Given the description of an element on the screen output the (x, y) to click on. 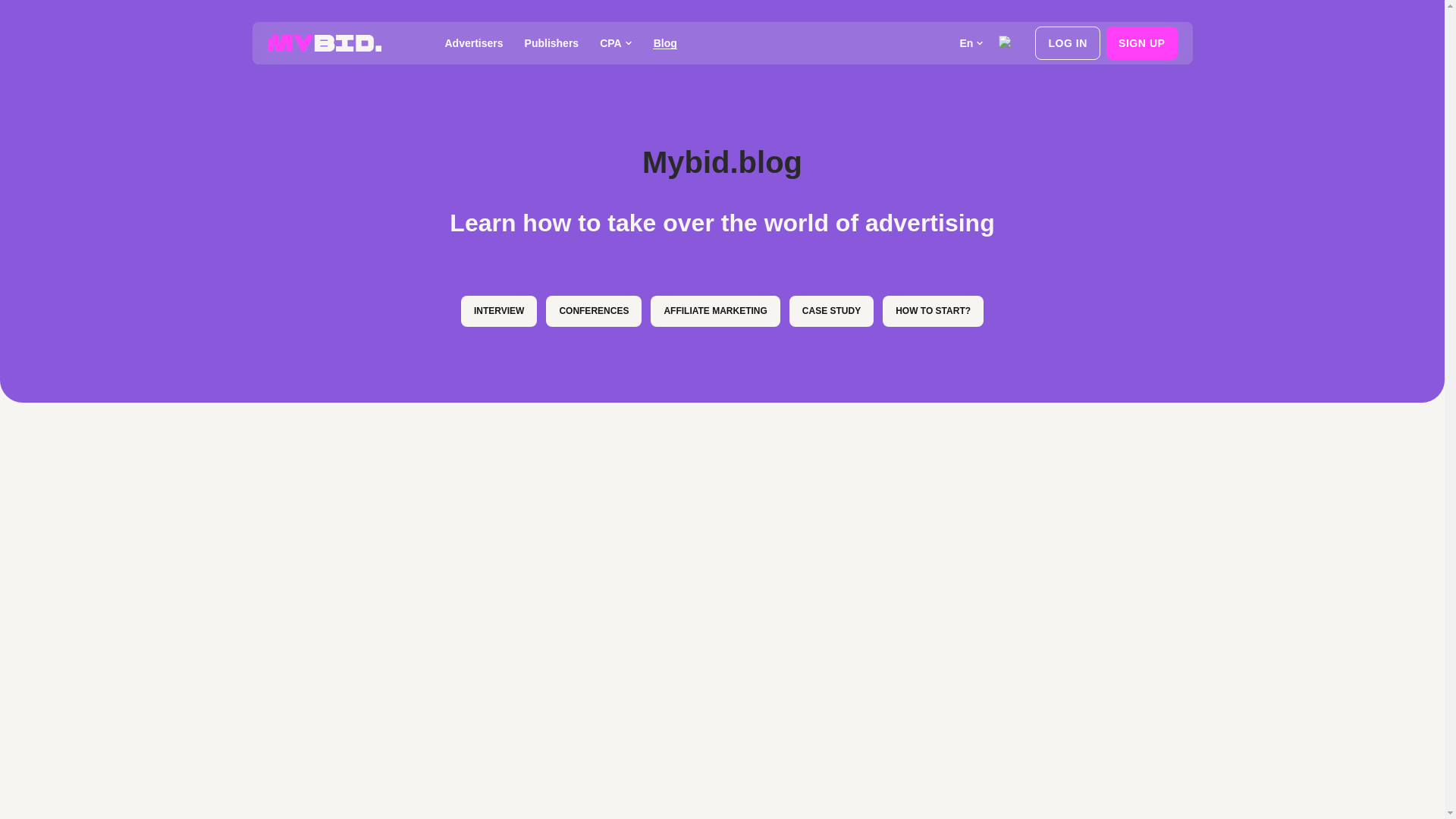
CASE STUDY (831, 310)
AFFILIATE MARKETING (714, 310)
Advertisers (473, 43)
SIGN UP (1141, 42)
HOW TO START? (933, 310)
Toggle dark mode (1012, 43)
INTERVIEW (499, 310)
LOG IN (1067, 42)
Blog (664, 43)
Publishers (551, 43)
